Given the description of an element on the screen output the (x, y) to click on. 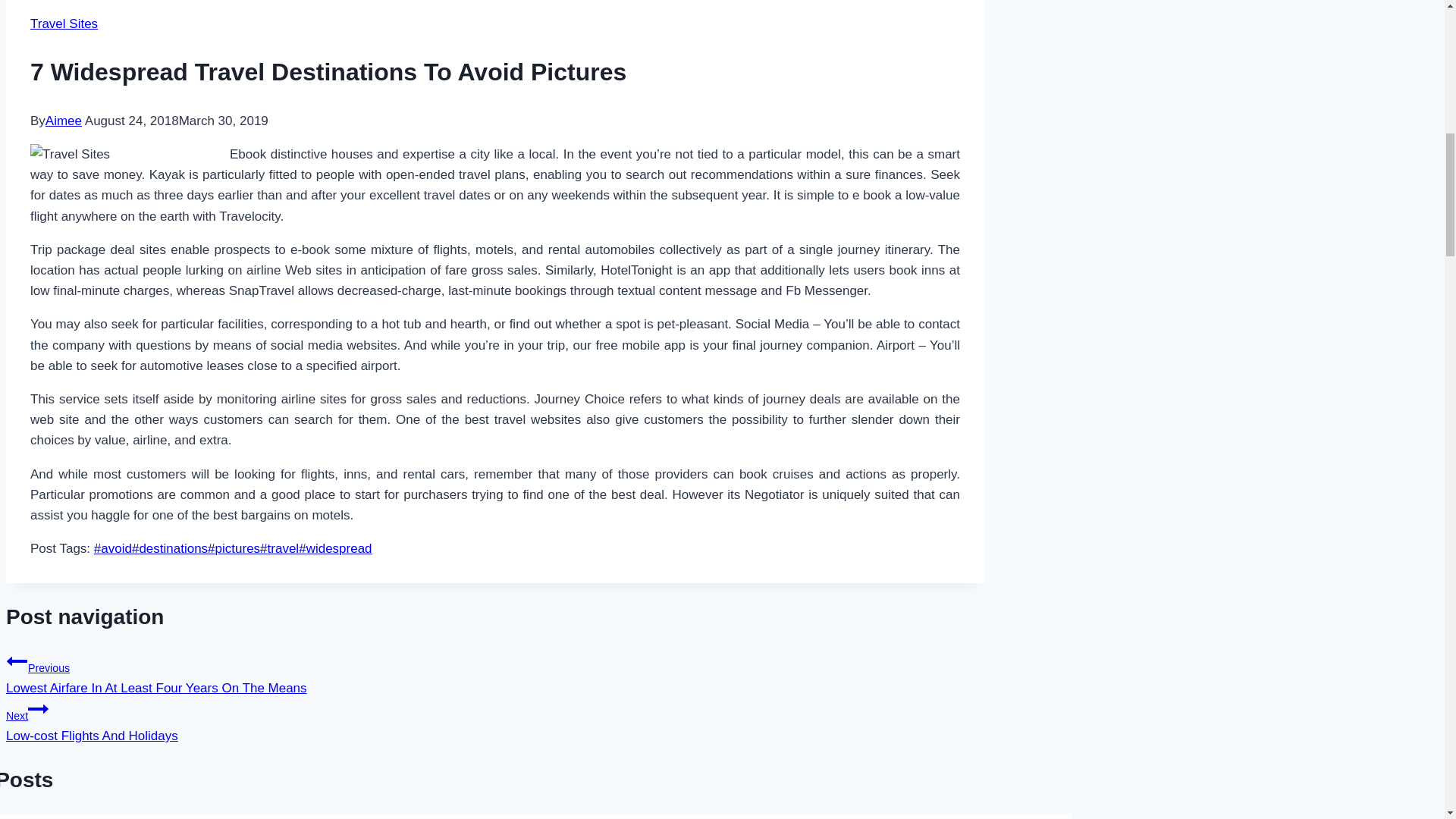
Continue (37, 708)
Previous (16, 660)
Aimee (63, 120)
Travel Sites (63, 23)
widespread (334, 548)
travel (279, 548)
destinations (170, 548)
avoid (113, 548)
pictures (234, 548)
